Given the description of an element on the screen output the (x, y) to click on. 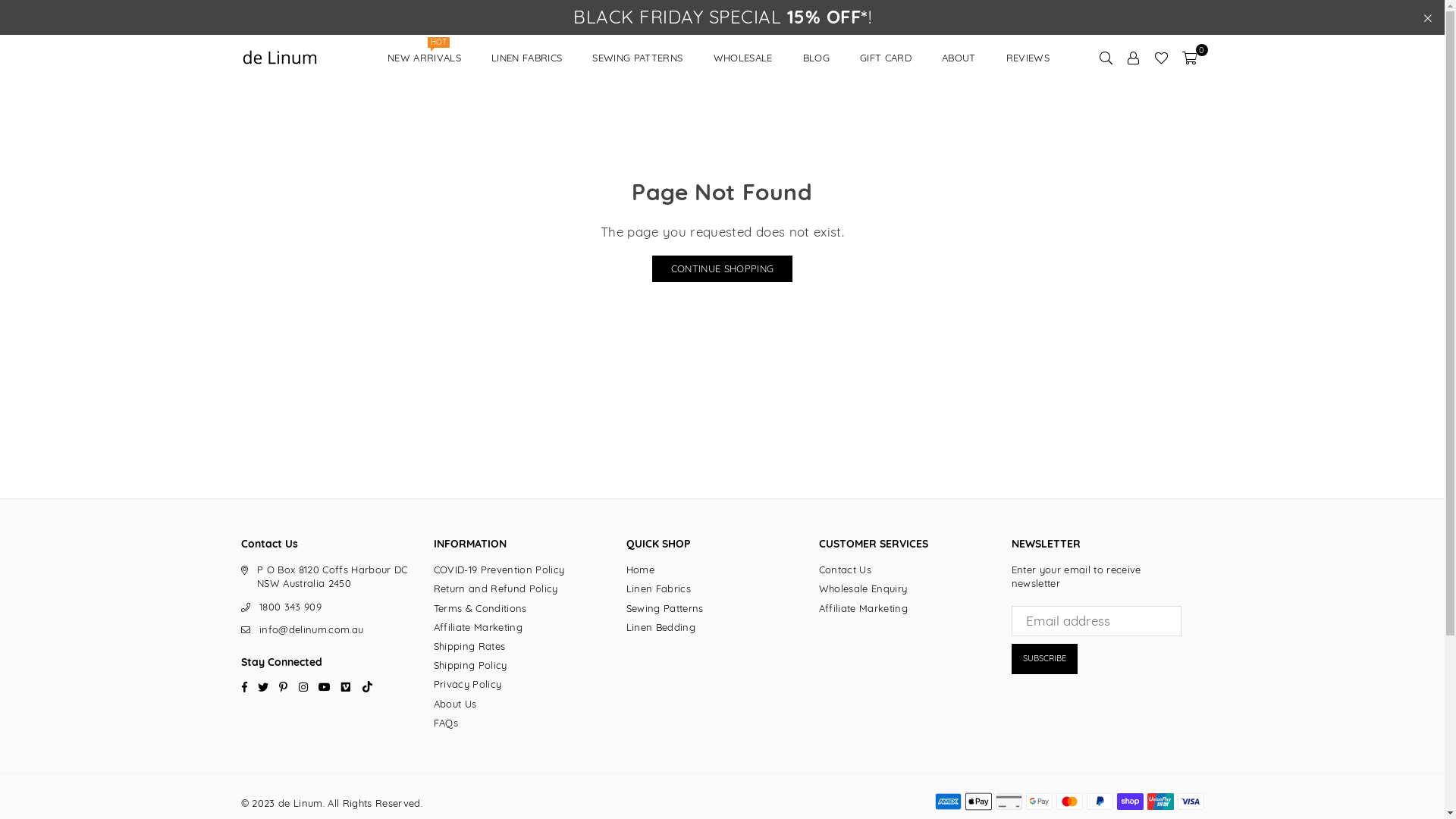
COVID-19 Prevention Policy Element type: text (498, 569)
Pinterest Element type: text (282, 685)
TikTok Element type: text (367, 685)
Privacy Policy Element type: text (467, 683)
Affiliate Marketing Element type: text (477, 627)
LINEN FABRICS Element type: text (526, 57)
REVIEWS Element type: text (1027, 57)
GIFT CARD Element type: text (885, 57)
SEWING PATTERNS Element type: text (636, 57)
0 Element type: text (1189, 57)
Wishlist Element type: hover (1161, 57)
Sewing Patterns Element type: text (664, 608)
Contact Us Element type: text (845, 569)
SUBSCRIBE Element type: text (1044, 658)
BLOG Element type: text (815, 57)
Twitter Element type: text (262, 685)
WHOLESALE Element type: text (743, 57)
Shipping Rates Element type: text (469, 646)
YouTube Element type: text (324, 685)
BLACK FRIDAY SPECIAL 15% OFF*! Element type: text (722, 17)
Linen Fabrics Element type: text (658, 588)
info@delinum.com.au Element type: text (311, 629)
About Us Element type: text (454, 703)
Wholesale Enquiry Element type: text (863, 588)
CONTINUE SHOPPING Element type: text (722, 268)
Vimeo Element type: text (345, 685)
ABOUT Element type: text (958, 57)
Home Element type: text (640, 569)
1800 343 909 Element type: text (290, 606)
Return and Refund Policy Element type: text (495, 588)
Shipping Policy Element type: text (470, 664)
Terms & Conditions Element type: text (480, 608)
NEW ARRIVALS
HOT Element type: text (424, 57)
Search Element type: hover (1106, 57)
Instagram Element type: text (303, 685)
FAQs Element type: text (445, 722)
DE LINUM Element type: text (305, 57)
Linen Bedding Element type: text (660, 627)
Settings Element type: hover (1133, 57)
Affiliate Marketing Element type: text (863, 608)
Facebook Element type: text (244, 685)
